Given the description of an element on the screen output the (x, y) to click on. 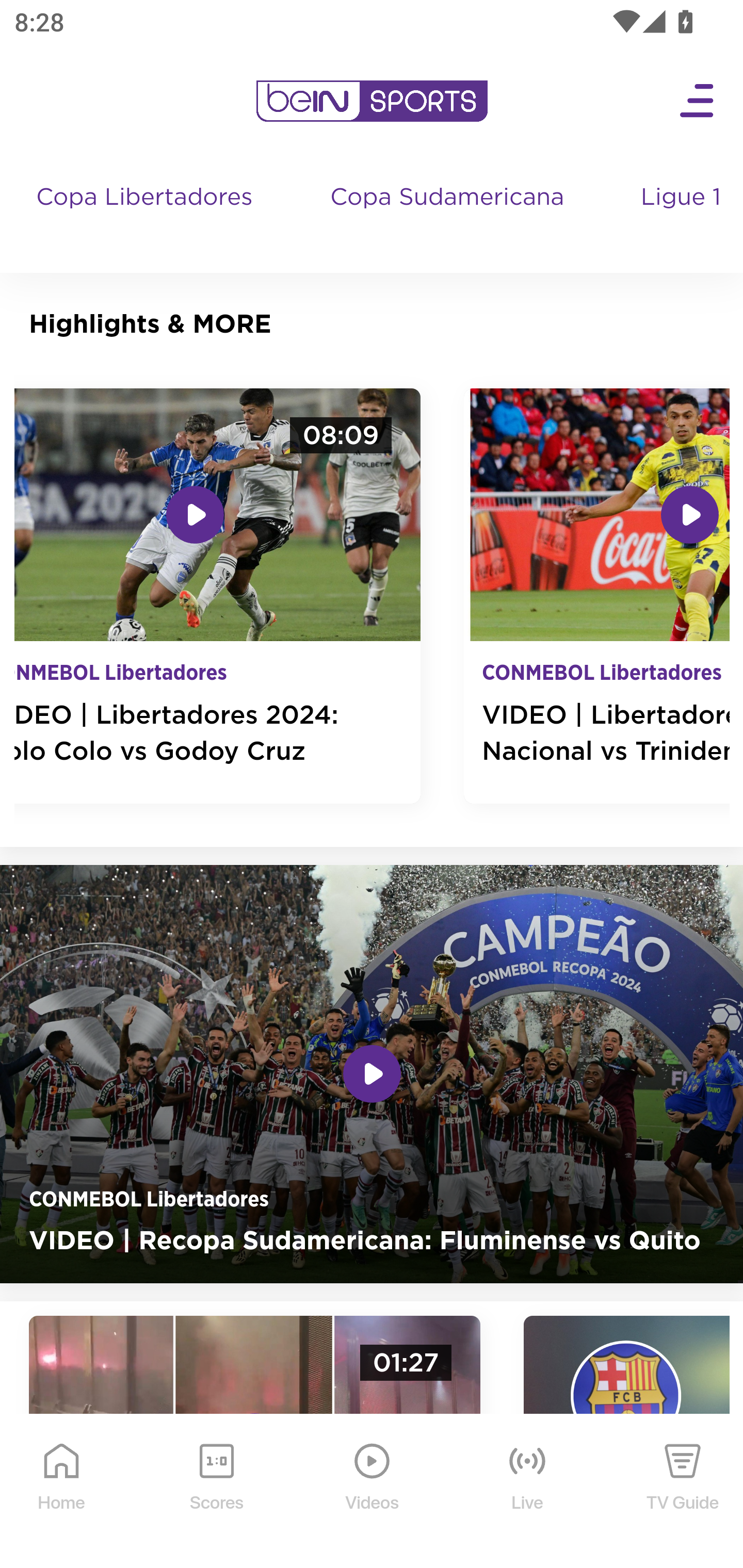
en-us?platform=mobile_android bein logo (371, 101)
Open Menu Icon (697, 101)
Copa Libertadores (146, 216)
Copa Sudamericana (448, 216)
Ligue 1 (682, 216)
Home Home Icon Home (61, 1491)
Scores Scores Icon Scores (216, 1491)
Videos Videos Icon Videos (372, 1491)
TV Guide TV Guide Icon TV Guide (682, 1491)
